Given the description of an element on the screen output the (x, y) to click on. 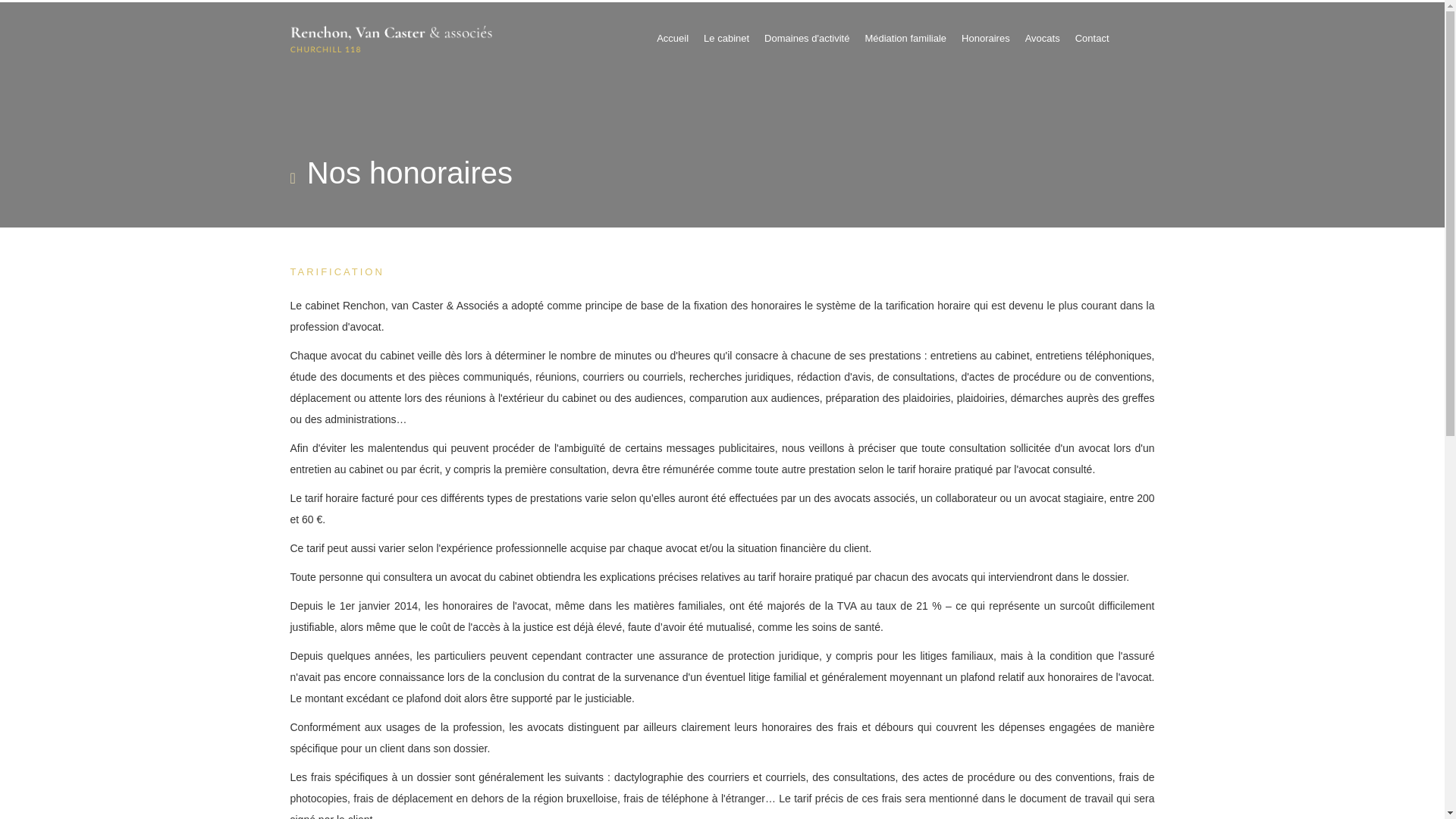
Honoraires Element type: text (985, 38)
Le cabinet Element type: text (726, 38)
Avocats Element type: text (1042, 38)
Contact Element type: text (1092, 38)
Accueil Element type: text (672, 38)
